Given the description of an element on the screen output the (x, y) to click on. 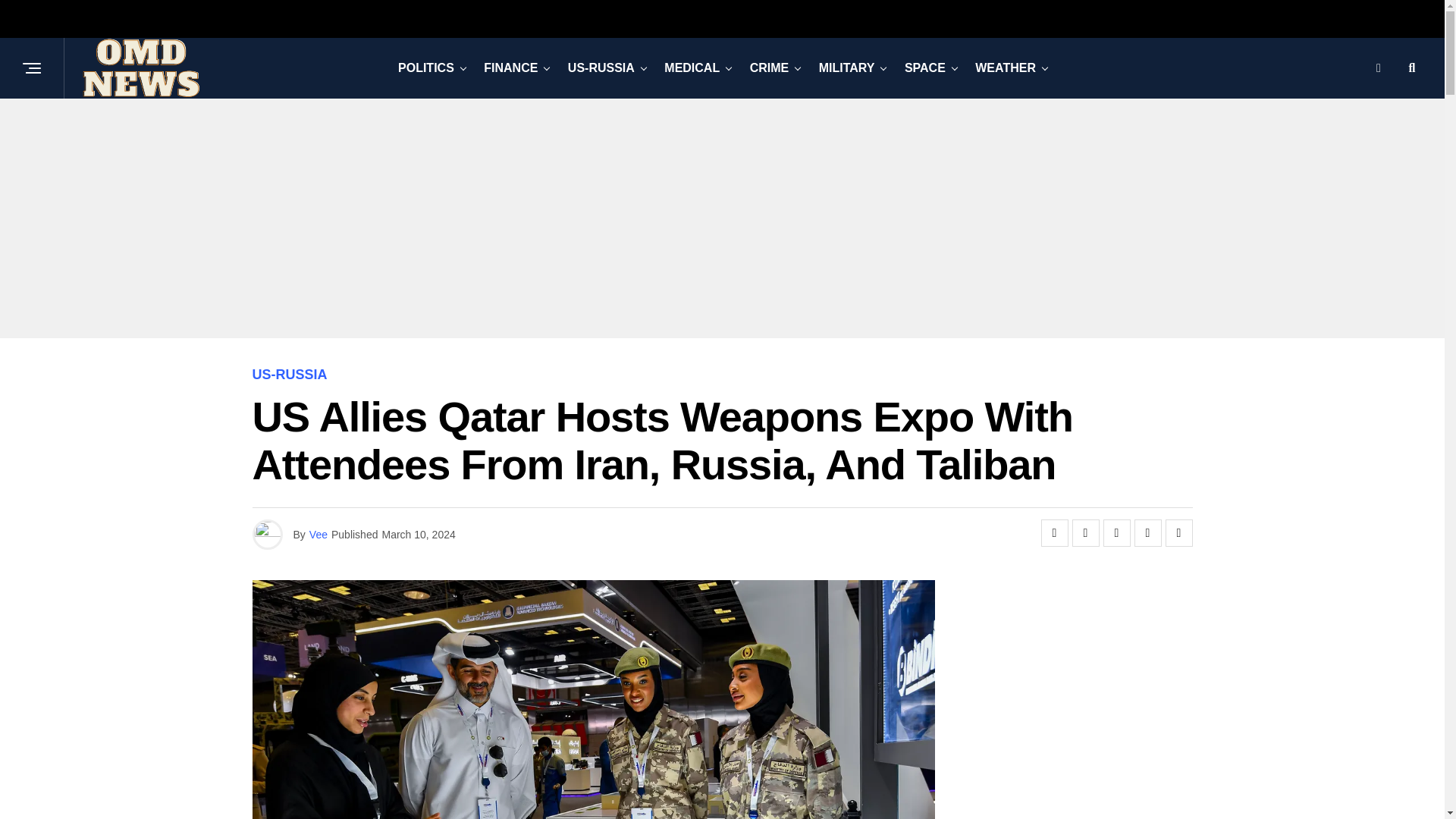
POLITICS (425, 67)
MEDICAL (691, 67)
Tweet This Post (1085, 533)
Posts by Vee (317, 534)
Share on Facebook (1054, 533)
FINANCE (510, 67)
US-RUSSIA (601, 67)
MILITARY (846, 67)
CRIME (769, 67)
